Given the description of an element on the screen output the (x, y) to click on. 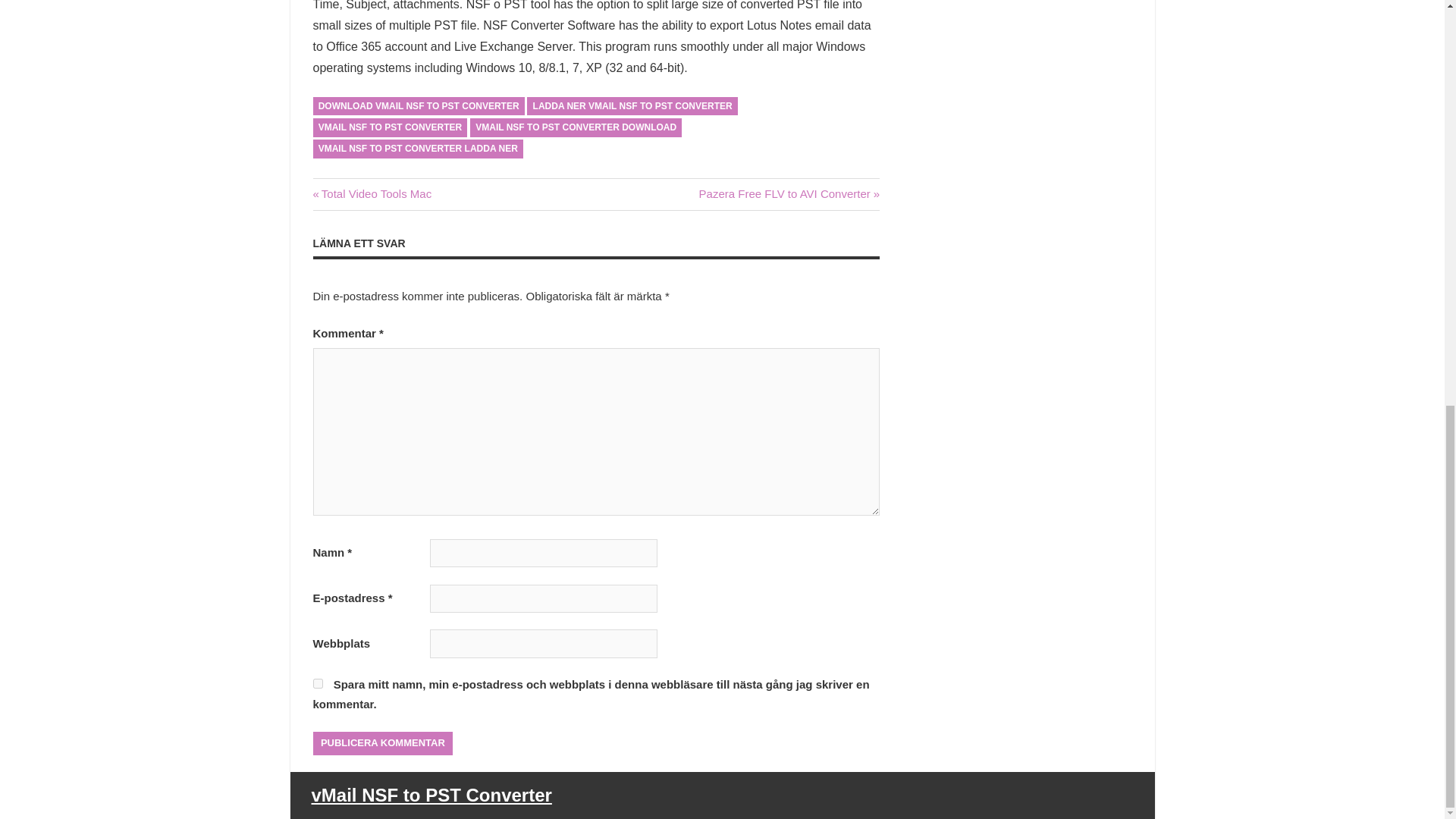
DOWNLOAD VMAIL NSF TO PST CONVERTER (418, 106)
VMAIL NSF TO PST CONVERTER (390, 127)
VMAIL NSF TO PST CONVERTER LADDA NER (417, 148)
yes (317, 683)
Publicera kommentar (382, 743)
LADDA NER VMAIL NSF TO PST CONVERTER (632, 106)
VMAIL NSF TO PST CONVERTER DOWNLOAD (575, 127)
Publicera kommentar (382, 743)
